Given the description of an element on the screen output the (x, y) to click on. 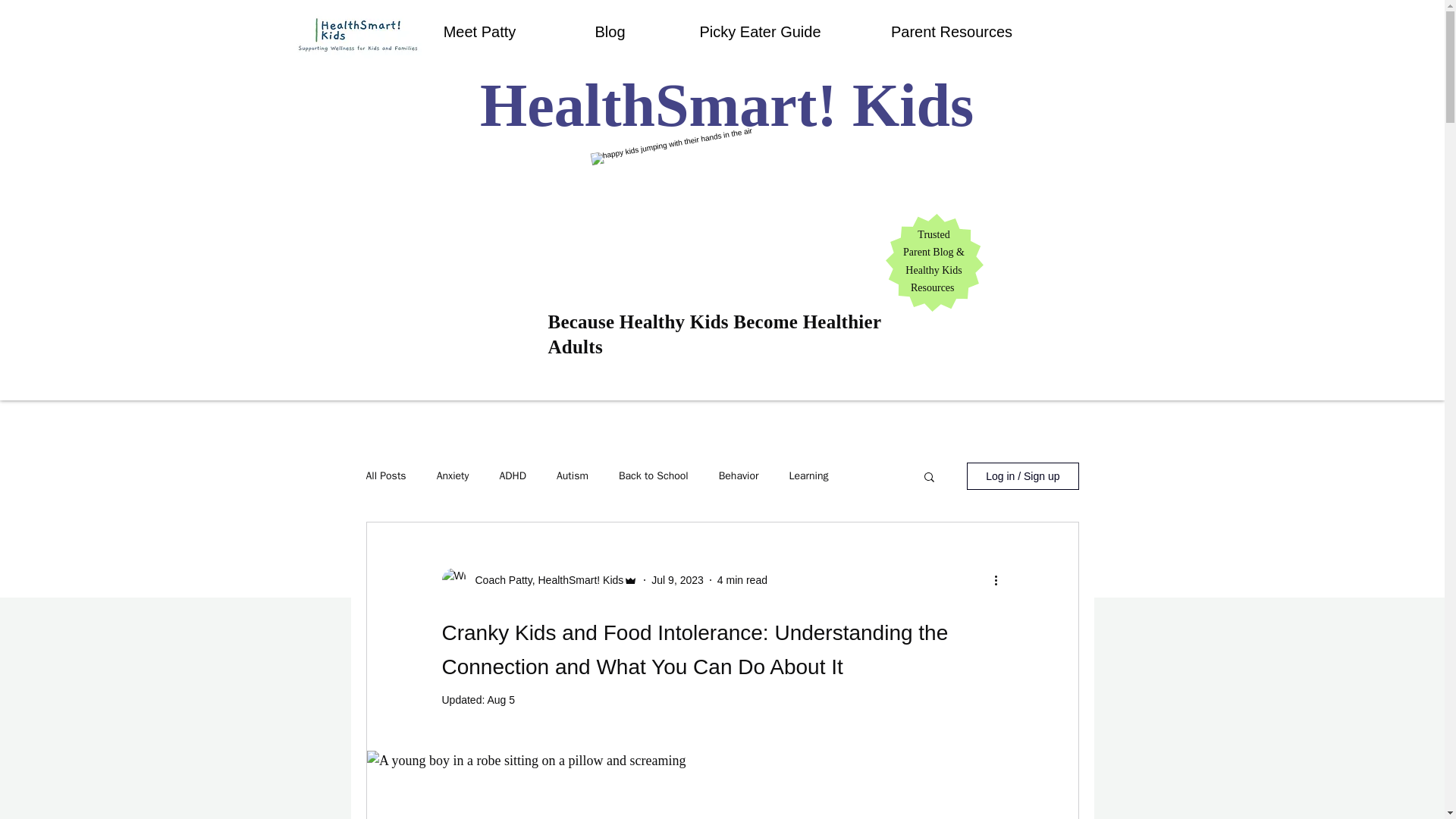
Aug 5 (500, 699)
Parent Resources (952, 32)
Picky Eater Guide (760, 32)
Blog (609, 32)
Jul 9, 2023 (676, 579)
Meet Patty (479, 32)
Autism (572, 476)
Anxiety (452, 476)
Learning (808, 476)
Coach Patty, HealthSmart! Kids (544, 579)
